Given the description of an element on the screen output the (x, y) to click on. 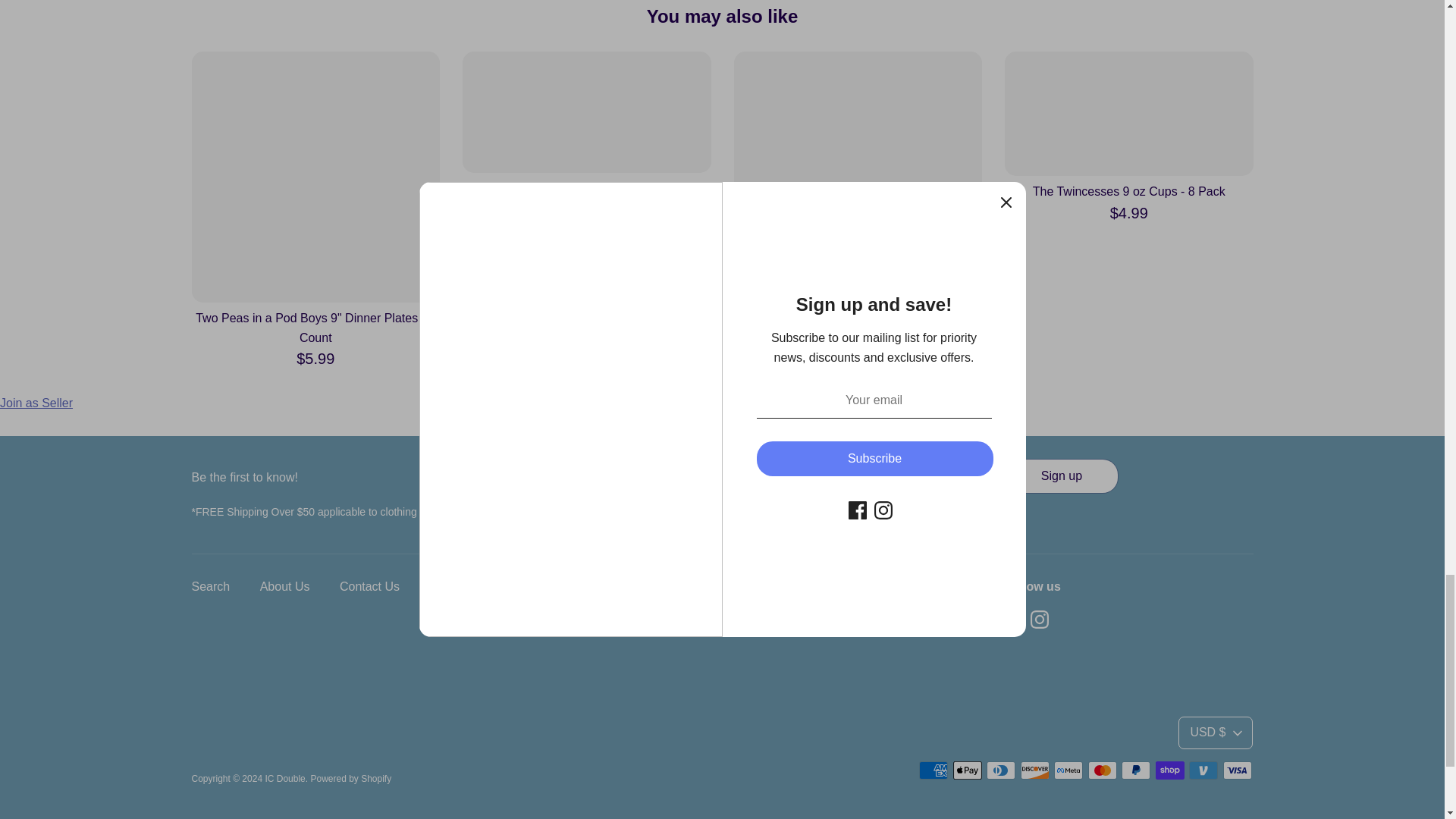
Apple Pay (967, 770)
Meta Pay (1068, 770)
American Express (932, 770)
Diners Club (1000, 770)
Discover (1034, 770)
